Given the description of an element on the screen output the (x, y) to click on. 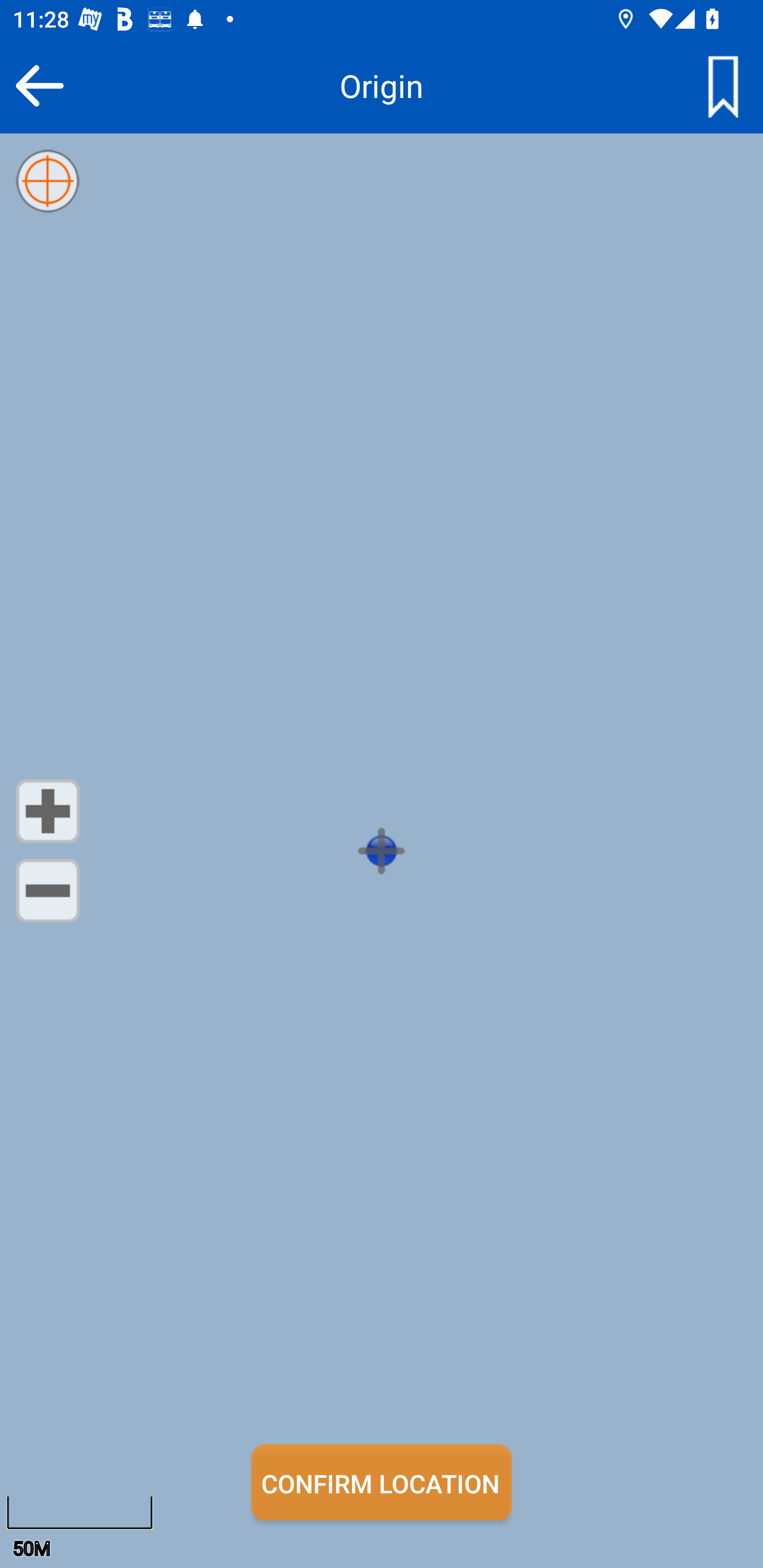
Add bookmark (723, 85)
Back (39, 85)
CONFIRM LOCATION (381, 1482)
